Given the description of an element on the screen output the (x, y) to click on. 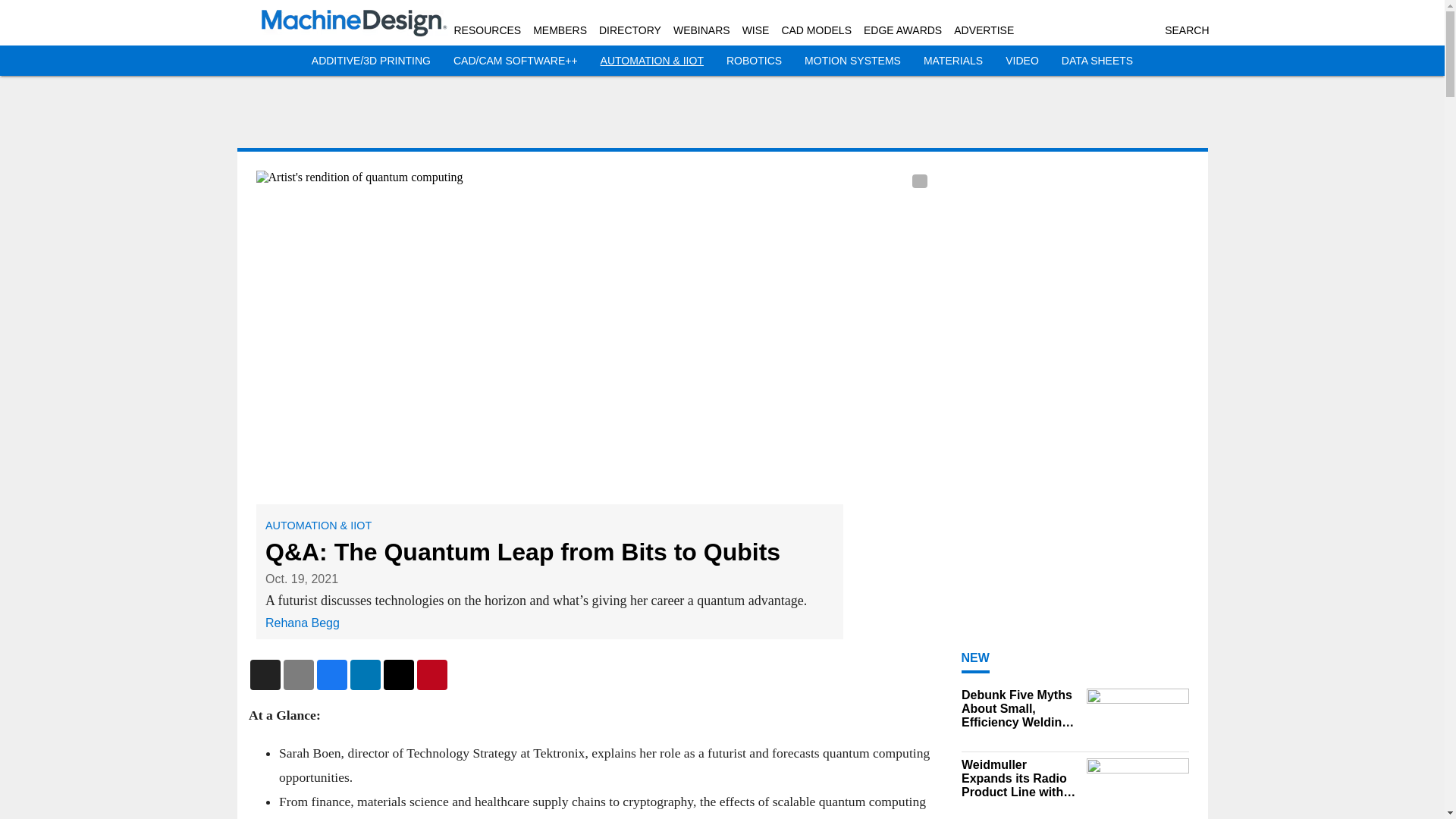
EDGE AWARDS (902, 30)
ROBOTICS (753, 60)
VIDEO (1022, 60)
MATERIALS (952, 60)
WISE (756, 30)
MEMBERS (559, 30)
MOTION SYSTEMS (853, 60)
ADVERTISE (983, 30)
WEBINARS (701, 30)
CAD MODELS (815, 30)
SEARCH (1186, 30)
DATA SHEETS (1096, 60)
DIRECTORY (629, 30)
RESOURCES (486, 30)
